Given the description of an element on the screen output the (x, y) to click on. 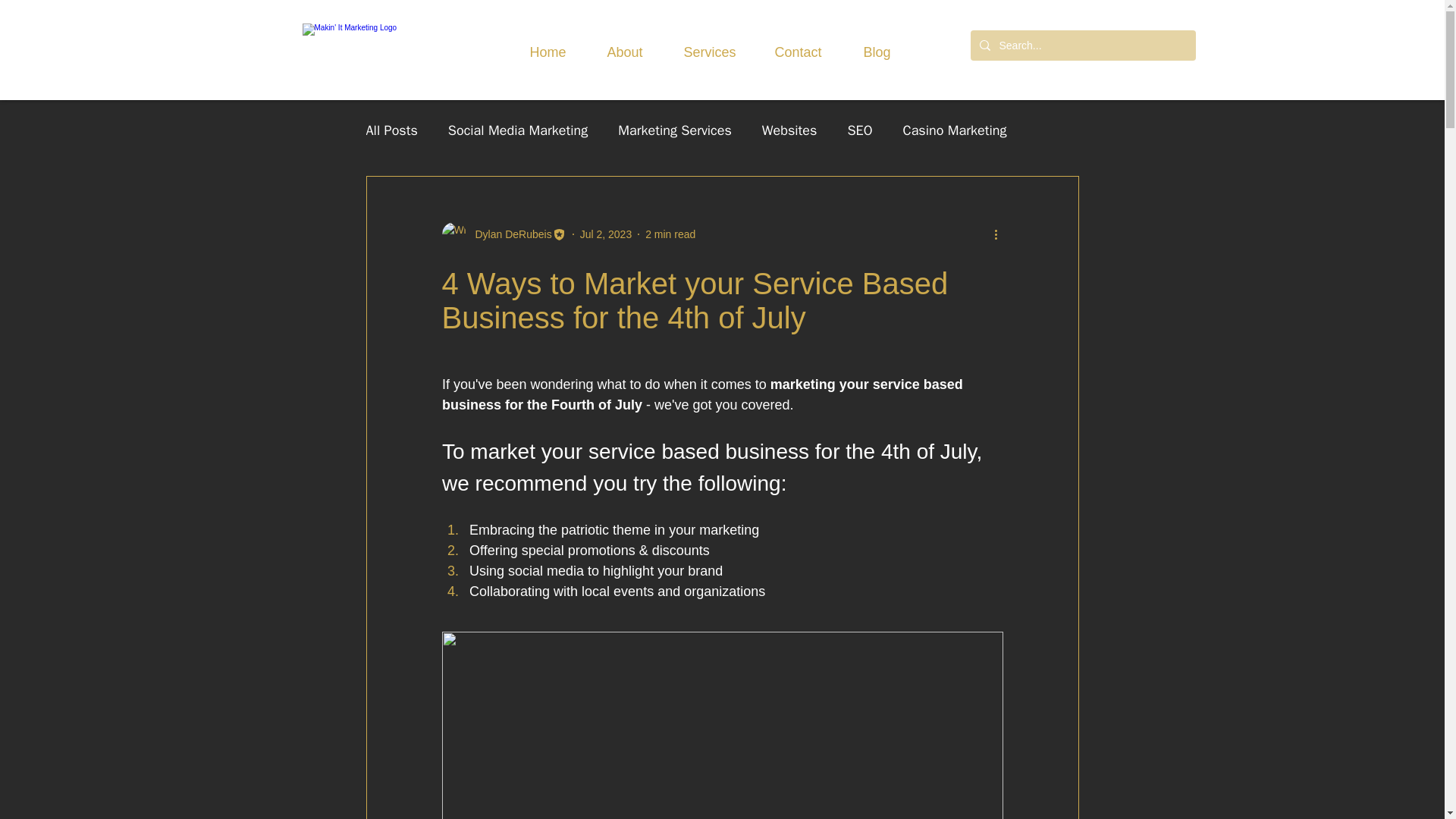
All Posts (390, 130)
About (627, 45)
Marketing Services (674, 130)
Contact (801, 45)
Social Media Marketing (518, 130)
Dylan DeRubeis (503, 233)
Jul 2, 2023 (605, 233)
Blog (878, 45)
2 min read (670, 233)
Home (550, 45)
Casino Marketing (954, 130)
Dylan DeRubeis (508, 233)
SEO (859, 130)
Websites (788, 130)
